Given the description of an element on the screen output the (x, y) to click on. 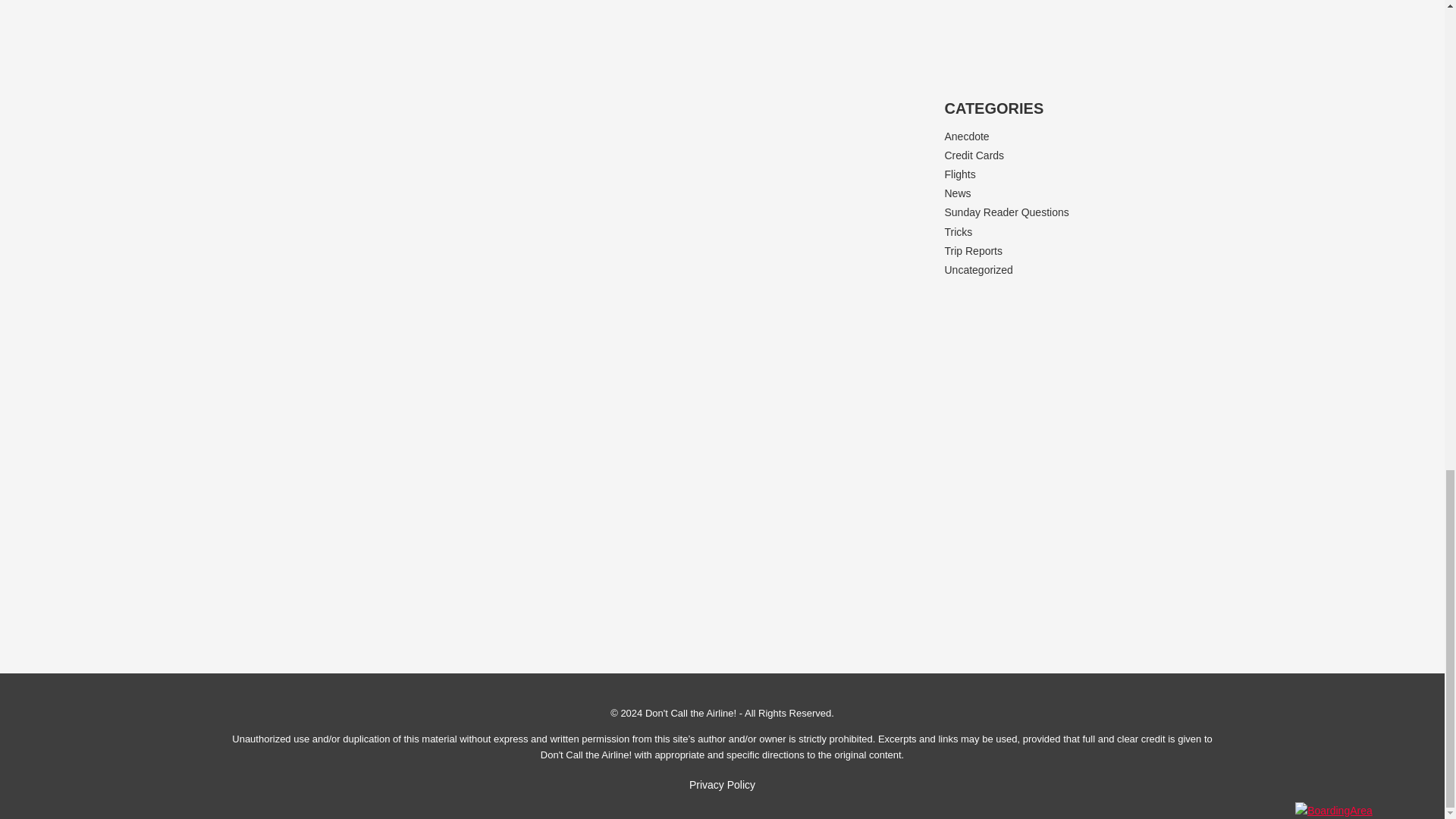
News (957, 193)
Credit Cards (974, 155)
Sunday Reader Questions (1006, 212)
Tricks (958, 232)
Anecdote (967, 136)
Flights (959, 174)
